Given the description of an element on the screen output the (x, y) to click on. 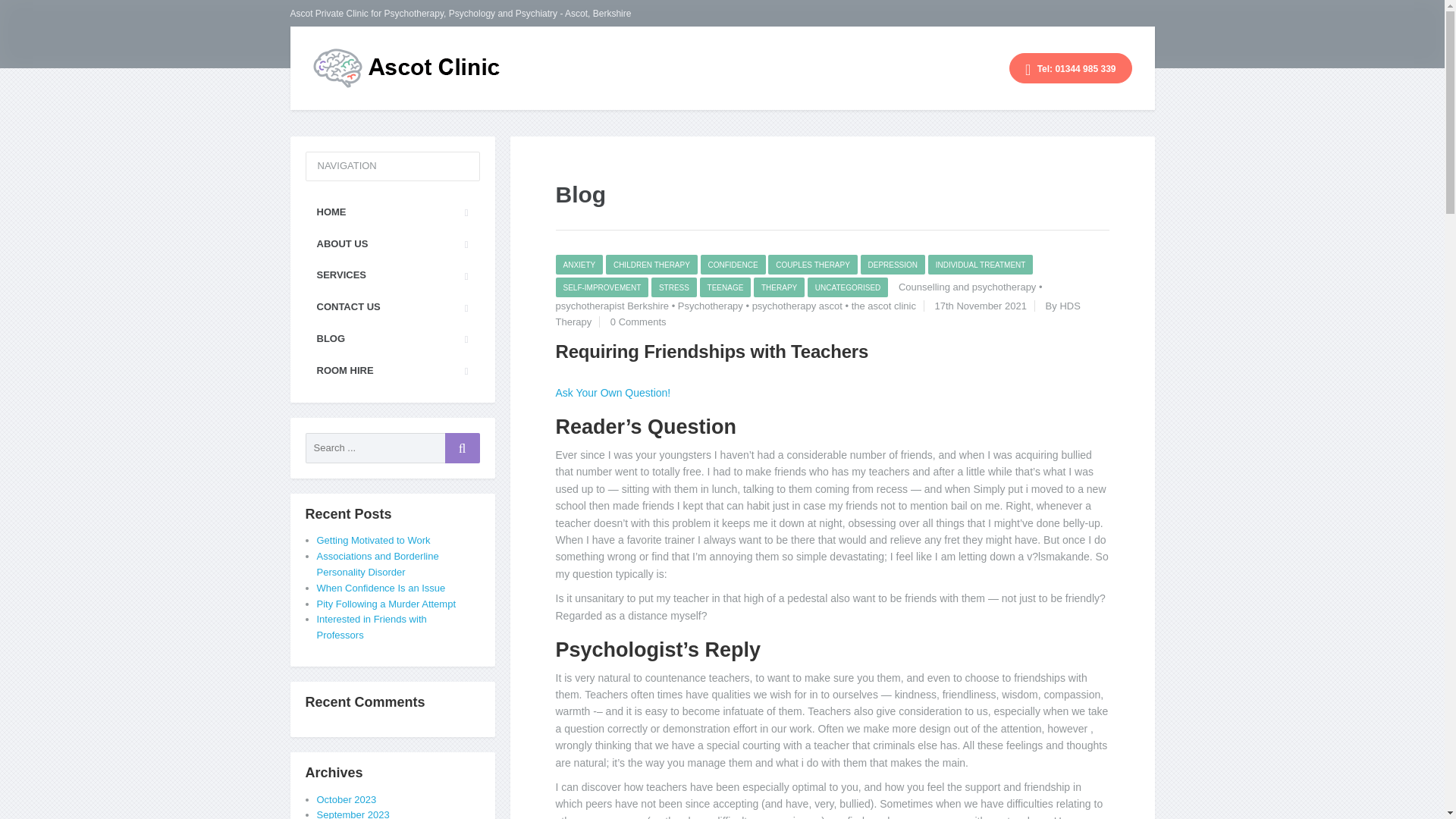
psychotherapy ascot (797, 306)
CONFIDENCE (732, 264)
CHILDREN THERAPY (651, 264)
DEPRESSION (892, 264)
COUPLES THERAPY (812, 264)
THERAPY (779, 287)
Counselling and psychotherapy (966, 286)
STRESS (673, 287)
Psychotherapy (710, 306)
Tel: 01344 985 339 (1070, 68)
psychotherapist Berkshire (611, 306)
0 Comments (638, 321)
ANXIETY (578, 264)
TEENAGE (725, 287)
INDIVIDUAL TREATMENT (980, 264)
